Given the description of an element on the screen output the (x, y) to click on. 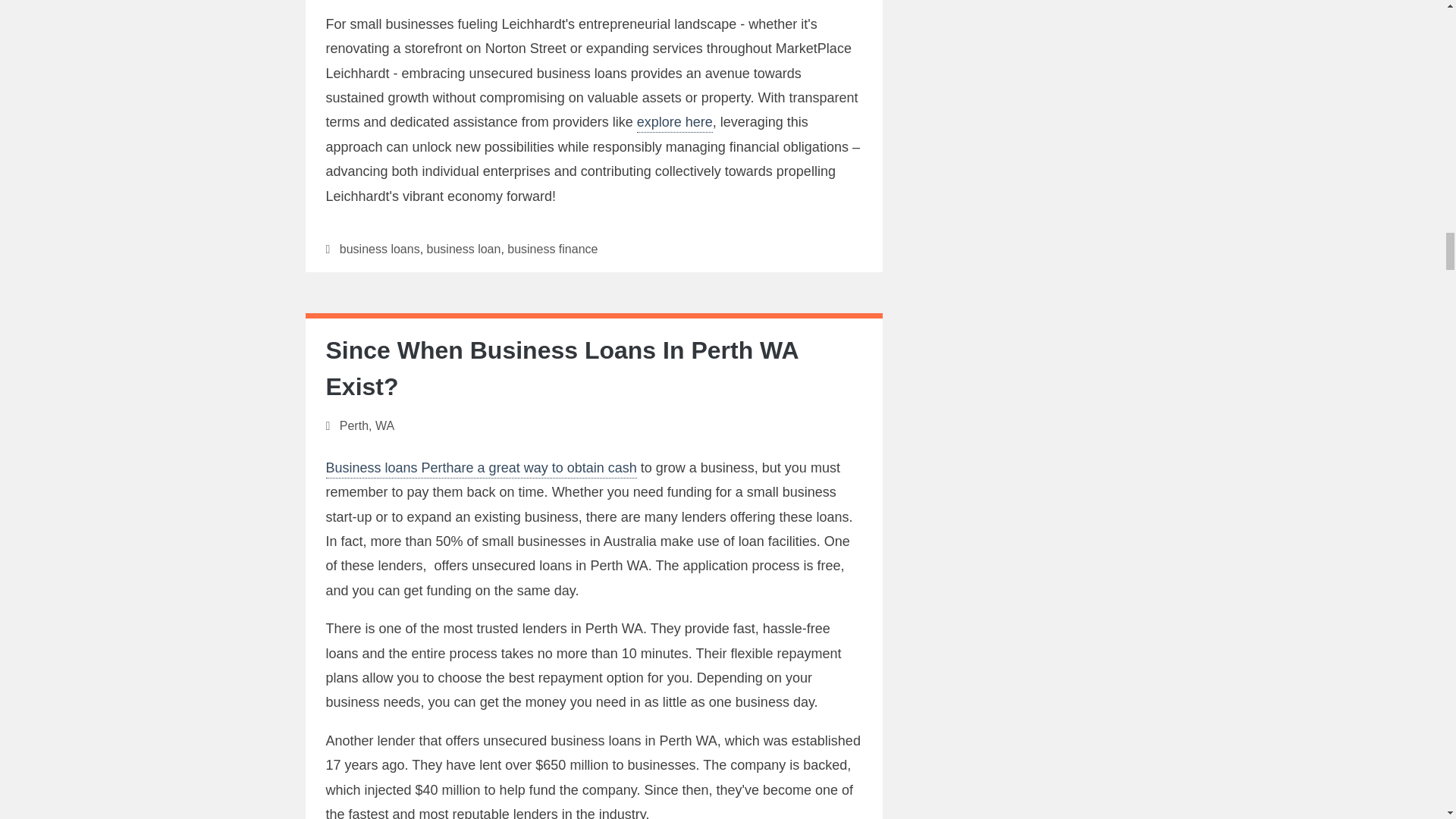
Business loans Perthare a great way to obtain cash (481, 469)
business loan (463, 248)
Since When Business Loans In Perth WA Exist? (561, 368)
explore here (675, 123)
WA (384, 425)
business finance (551, 248)
Perth (353, 425)
business loans (379, 248)
